Given the description of an element on the screen output the (x, y) to click on. 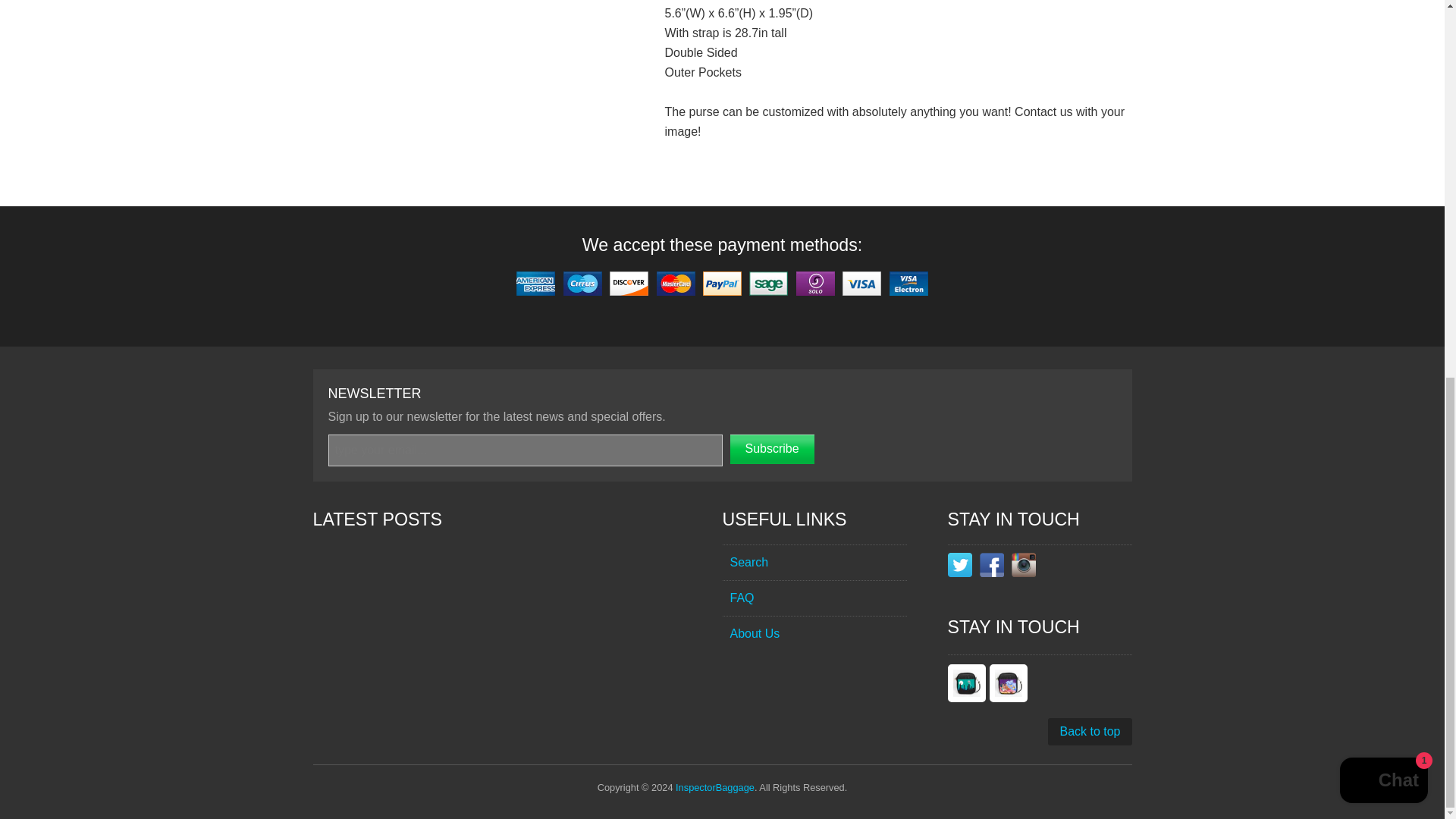
Batman Minimalist Purse (966, 682)
InspectorBaggage (714, 787)
About Us (813, 633)
Search (813, 561)
Shopify online store chat (1383, 84)
FAQ (813, 597)
Subscribe (771, 449)
Back to top (1089, 731)
Aladdin Crossbody (1007, 682)
